Given the description of an element on the screen output the (x, y) to click on. 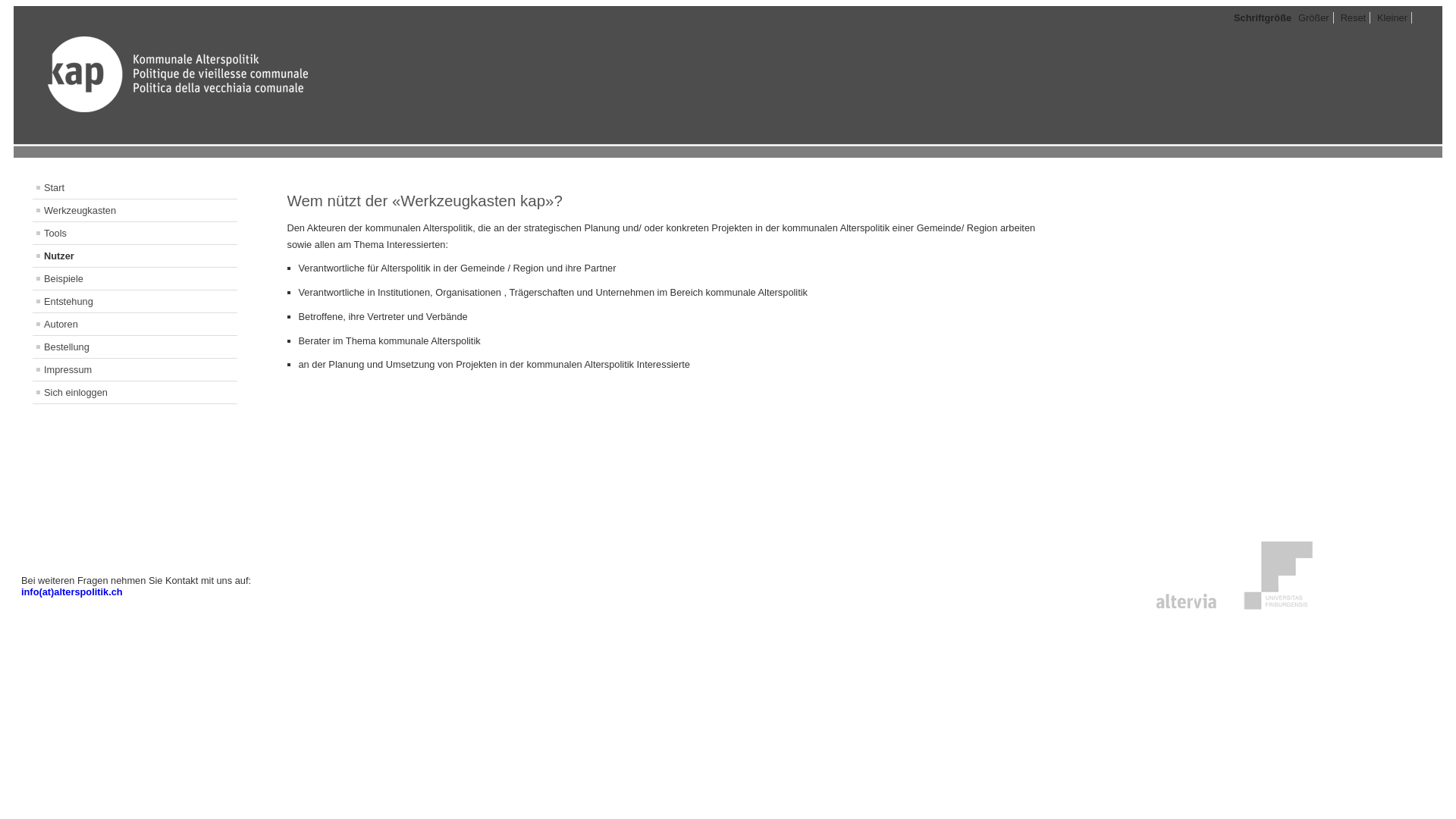
Entstehung Element type: text (134, 301)
Bestellung Element type: text (134, 346)
Kleiner Element type: text (1392, 17)
info(at)alterspolitik.ch Element type: text (71, 591)
Sich einloggen Element type: text (134, 392)
Autoren Element type: text (134, 324)
Werkzeugkasten Element type: text (134, 210)
Beispiele Element type: text (134, 278)
Reset Element type: text (1353, 17)
Nutzer Element type: text (134, 255)
Start Element type: text (134, 187)
Impressum Element type: text (134, 369)
Tools Element type: text (134, 233)
